Given the description of an element on the screen output the (x, y) to click on. 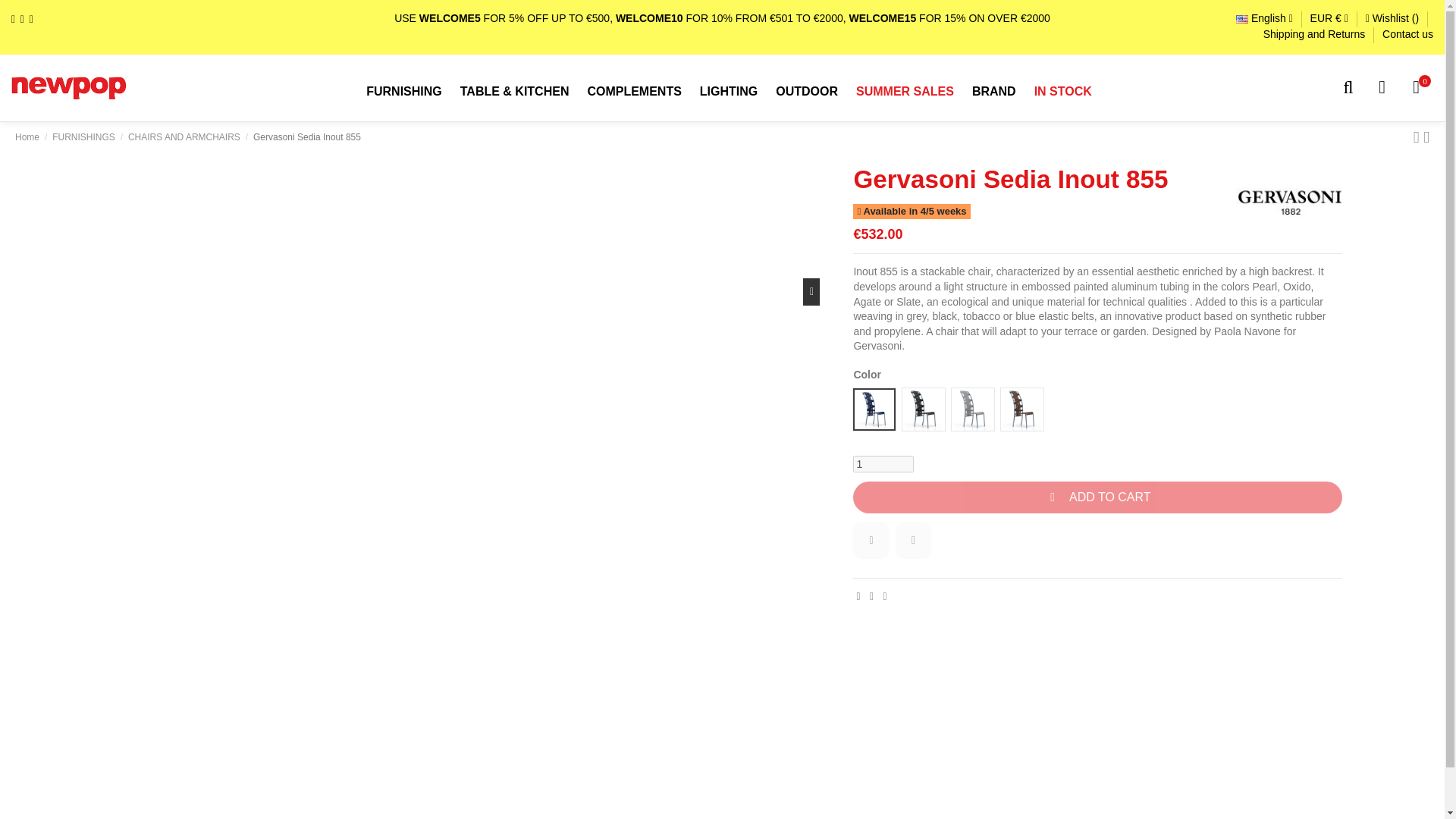
Use our form to contact us (1406, 33)
English (1264, 18)
Contact us (1406, 33)
Shipping and Returns (1315, 33)
I nostri termini e condizioni di consegna (1315, 33)
FURNISHING (403, 91)
1 (883, 463)
